Given the description of an element on the screen output the (x, y) to click on. 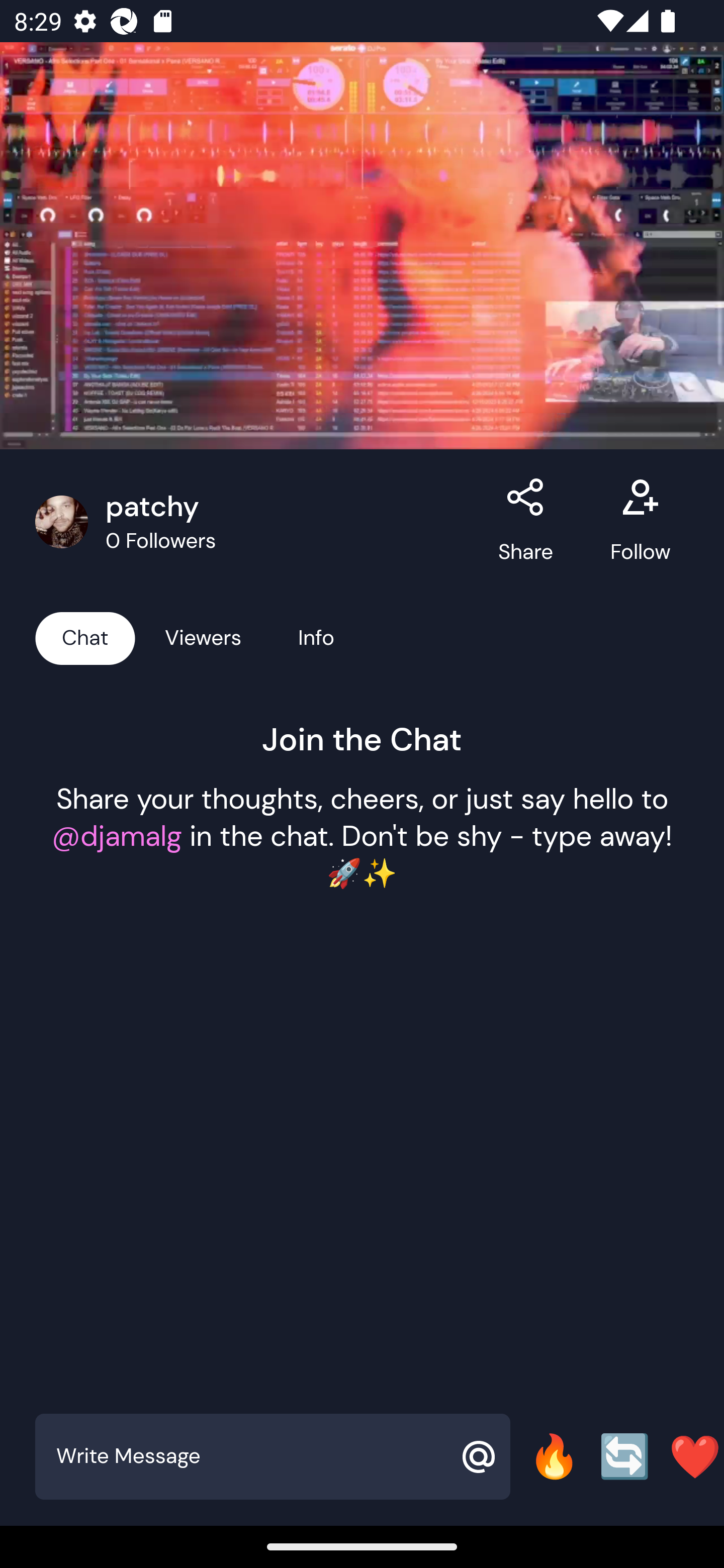
patchy, 0 Followers patchy 0 Followers (256, 521)
Share (525, 521)
Follow (640, 521)
Chat (84, 636)
Viewers (203, 636)
Info (316, 636)
Write Message (250, 1456)
🔥 (553, 1456)
🔄 (624, 1456)
❤️ (694, 1456)
